Given the description of an element on the screen output the (x, y) to click on. 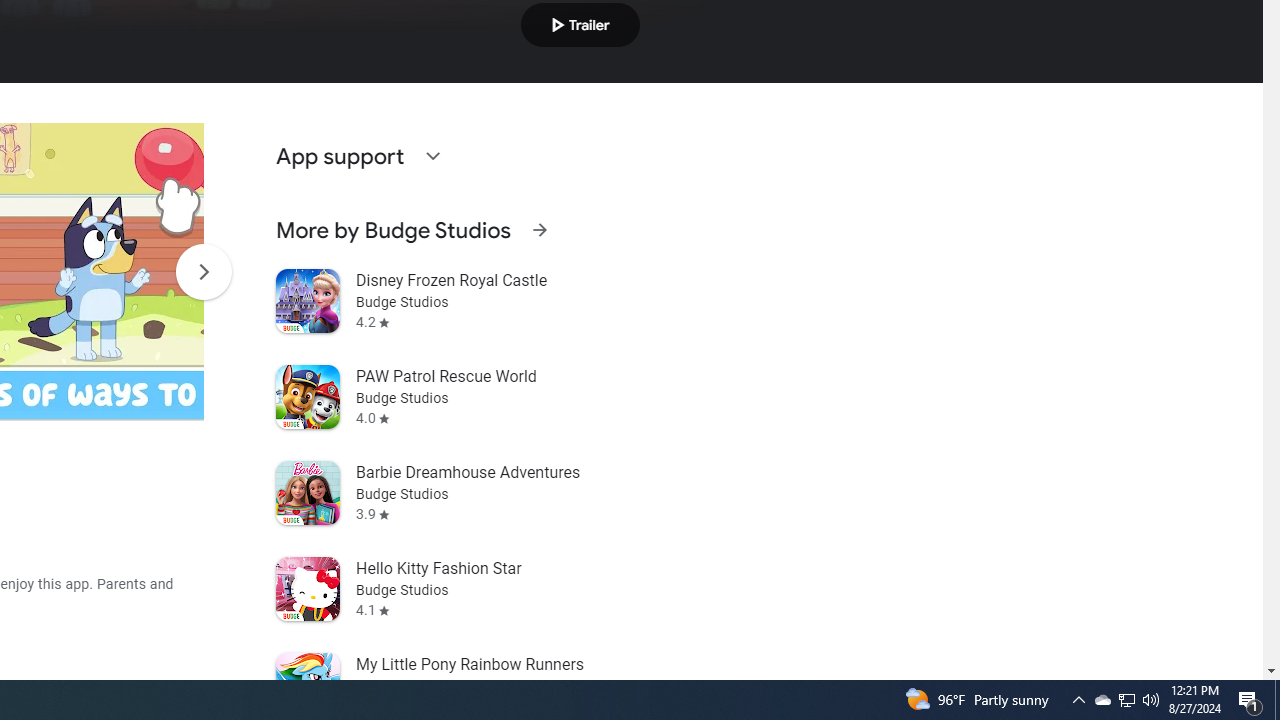
Expand (432, 155)
See more information on More by Budge Studios (539, 229)
Scroll Next (203, 272)
Play trailer (580, 24)
